Given the description of an element on the screen output the (x, y) to click on. 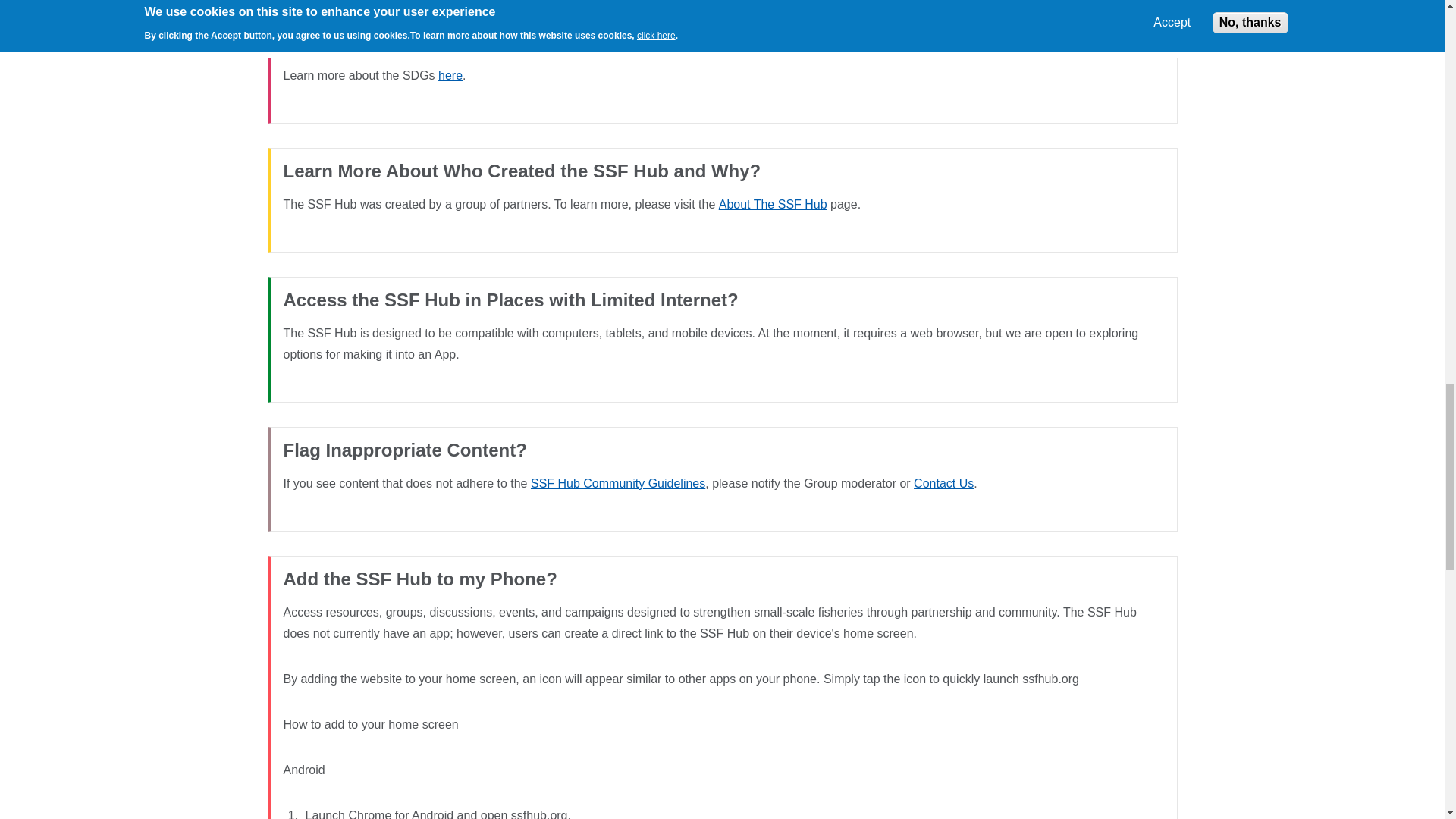
Sustainable Development Goals (450, 74)
Community Guidelines (617, 482)
Contact (944, 482)
About the SSF Hub (773, 204)
